Given the description of an element on the screen output the (x, y) to click on. 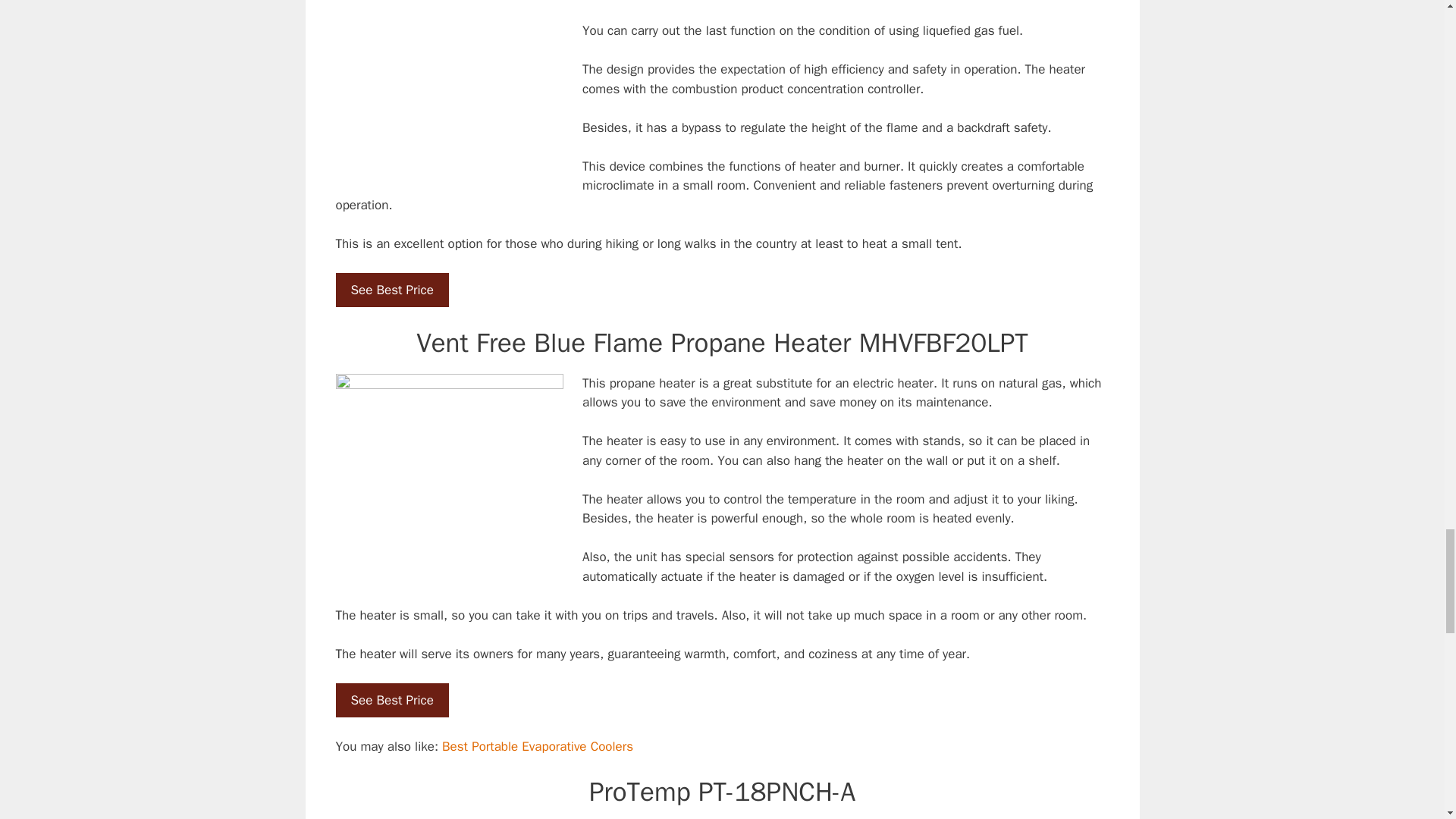
See Best Price (391, 289)
See Best Price (391, 700)
Best Portable Evaporative Coolers (537, 746)
